Given the description of an element on the screen output the (x, y) to click on. 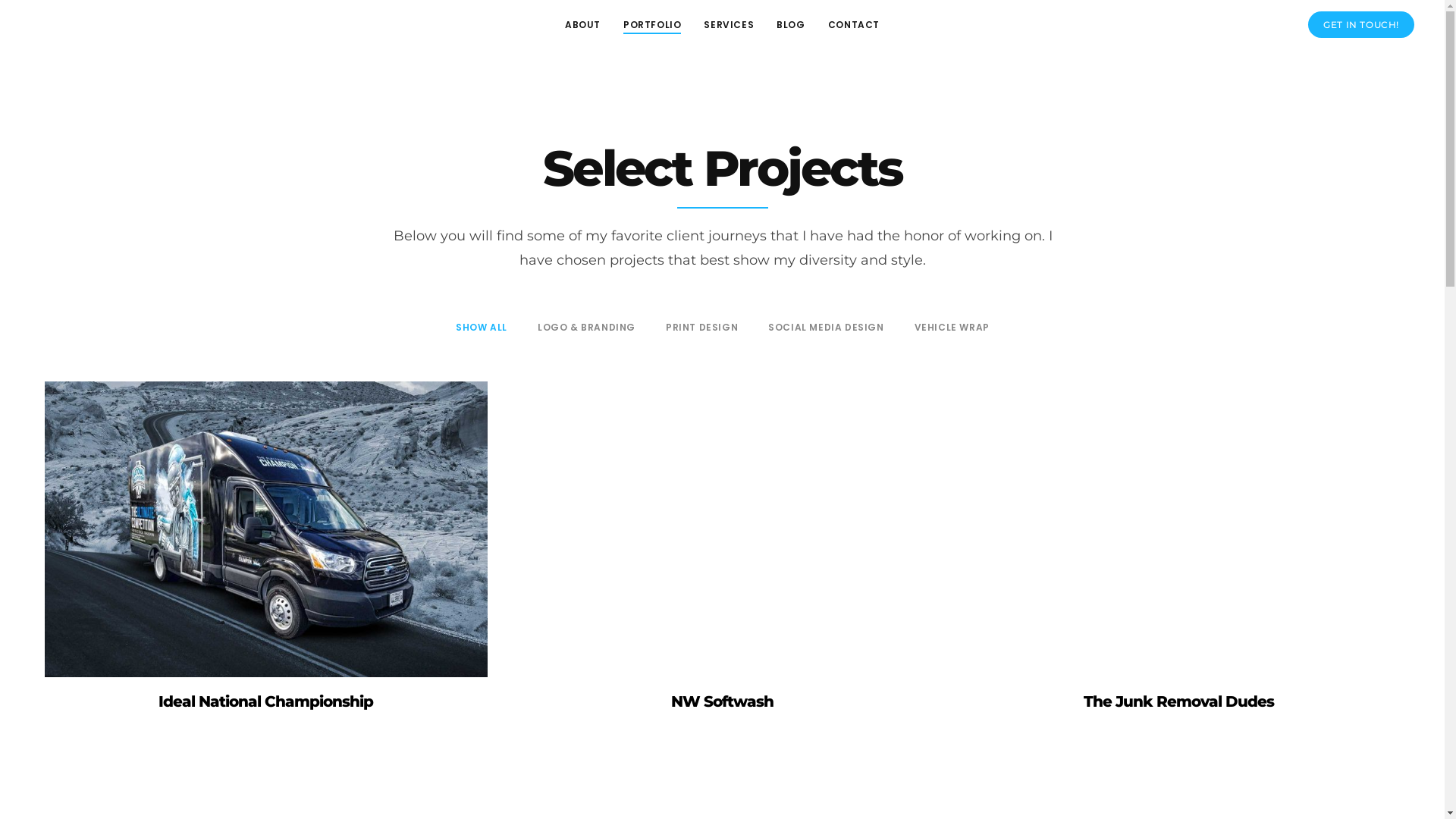
Ideal National Championship Element type: text (265, 694)
PRINT DESIGN Element type: text (701, 327)
The Junk Removal Dudes Element type: hover (1178, 528)
SERVICES Element type: text (728, 24)
NW Softwash Element type: hover (722, 528)
SOCIAL MEDIA DESIGN Element type: text (825, 327)
ABOUT Element type: text (582, 24)
GET IN TOUCH! Element type: text (1361, 24)
BLOG Element type: text (790, 24)
LOGO & BRANDING Element type: text (586, 327)
CONTACT Element type: text (853, 24)
SHOW ALL Element type: text (481, 327)
The Junk Removal Dudes Element type: text (1178, 694)
Ideal National Championship Element type: hover (265, 528)
VEHICLE WRAP Element type: text (951, 327)
NW Softwash Element type: text (722, 694)
PORTFOLIO Element type: text (651, 24)
